Given the description of an element on the screen output the (x, y) to click on. 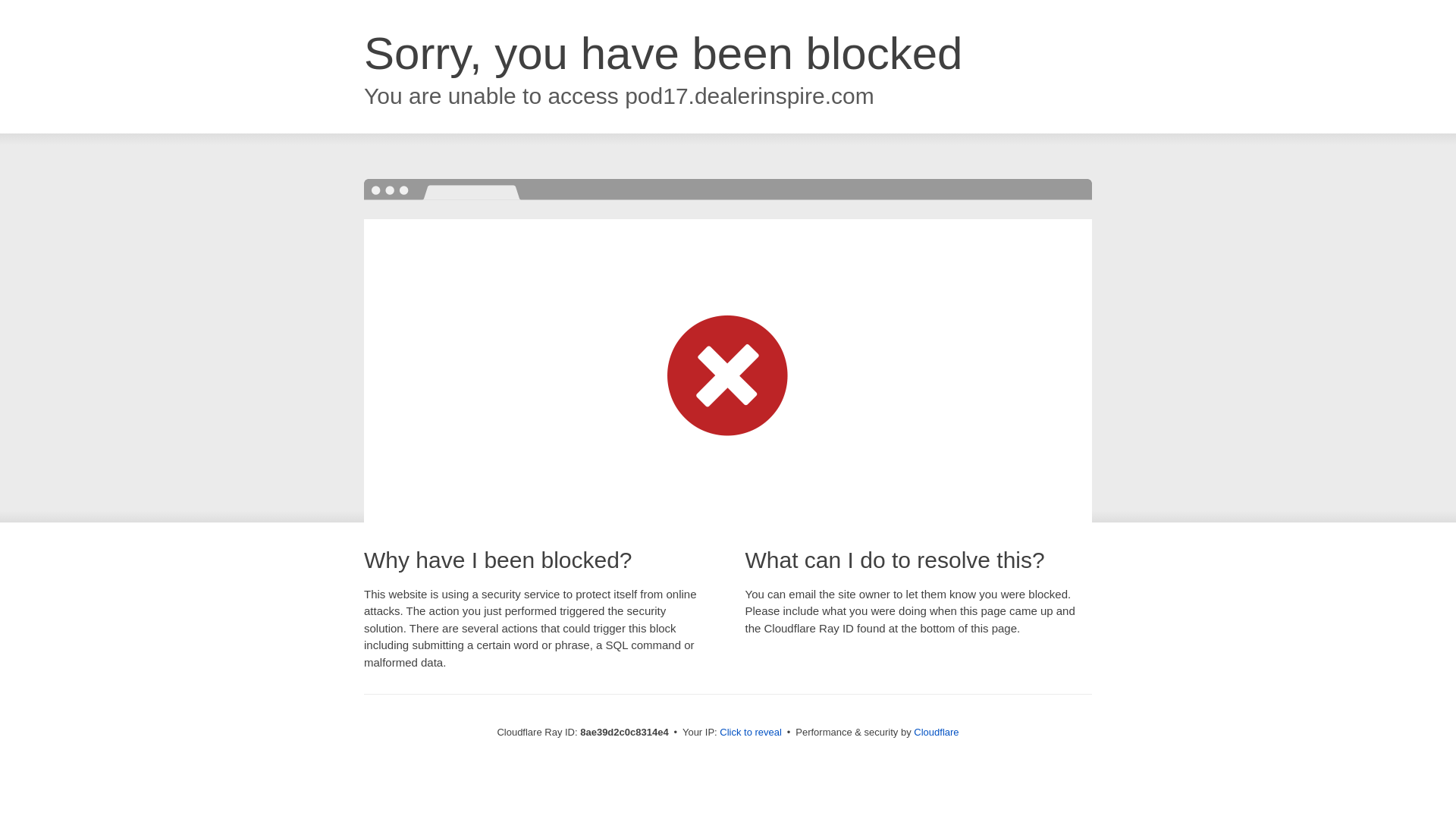
Cloudflare (936, 731)
Click to reveal (750, 732)
